Given the description of an element on the screen output the (x, y) to click on. 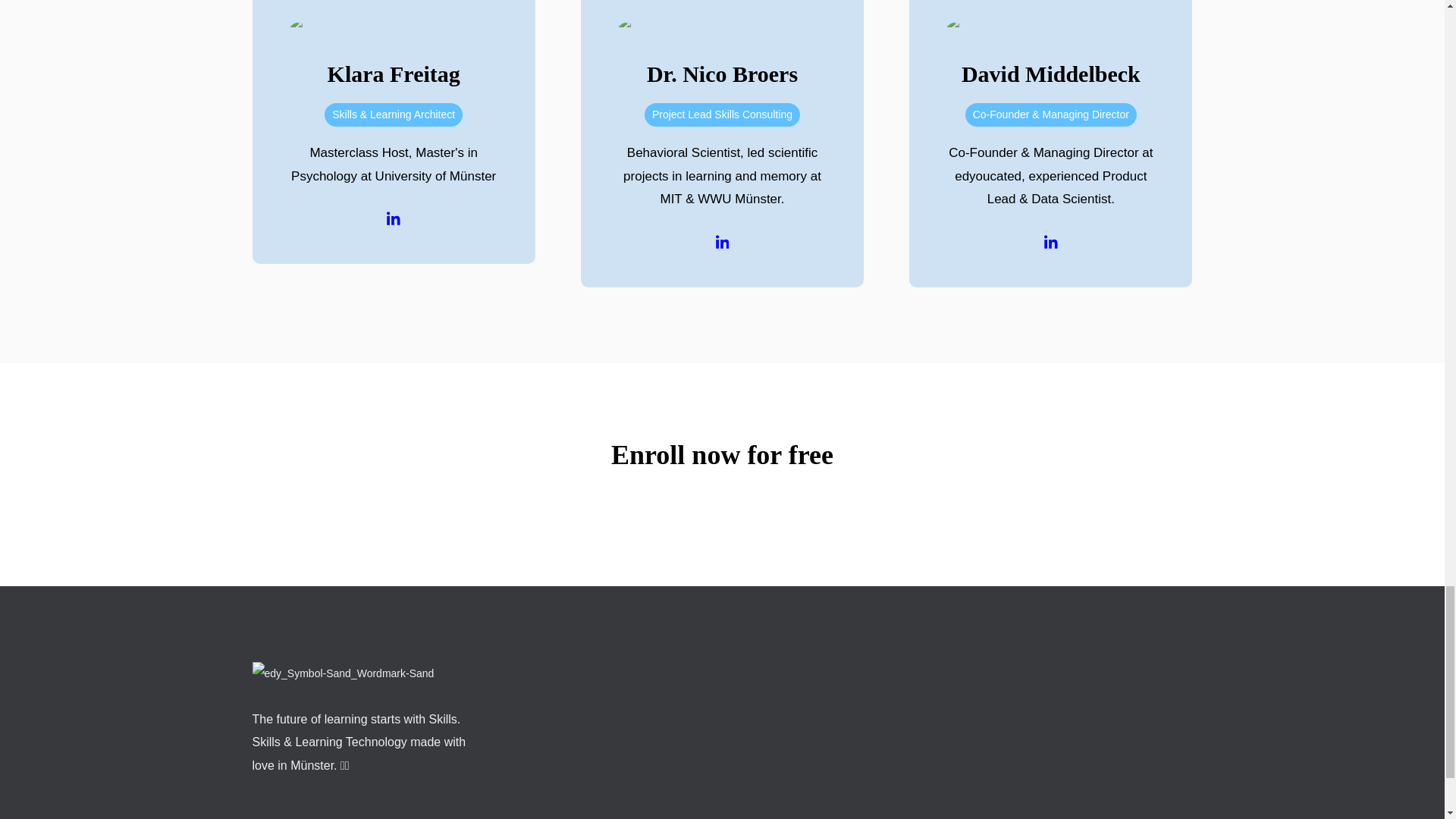
Follow us on LinkedIn (722, 241)
Follow us on LinkedIn (1050, 241)
Follow us on X (393, 218)
